Given the description of an element on the screen output the (x, y) to click on. 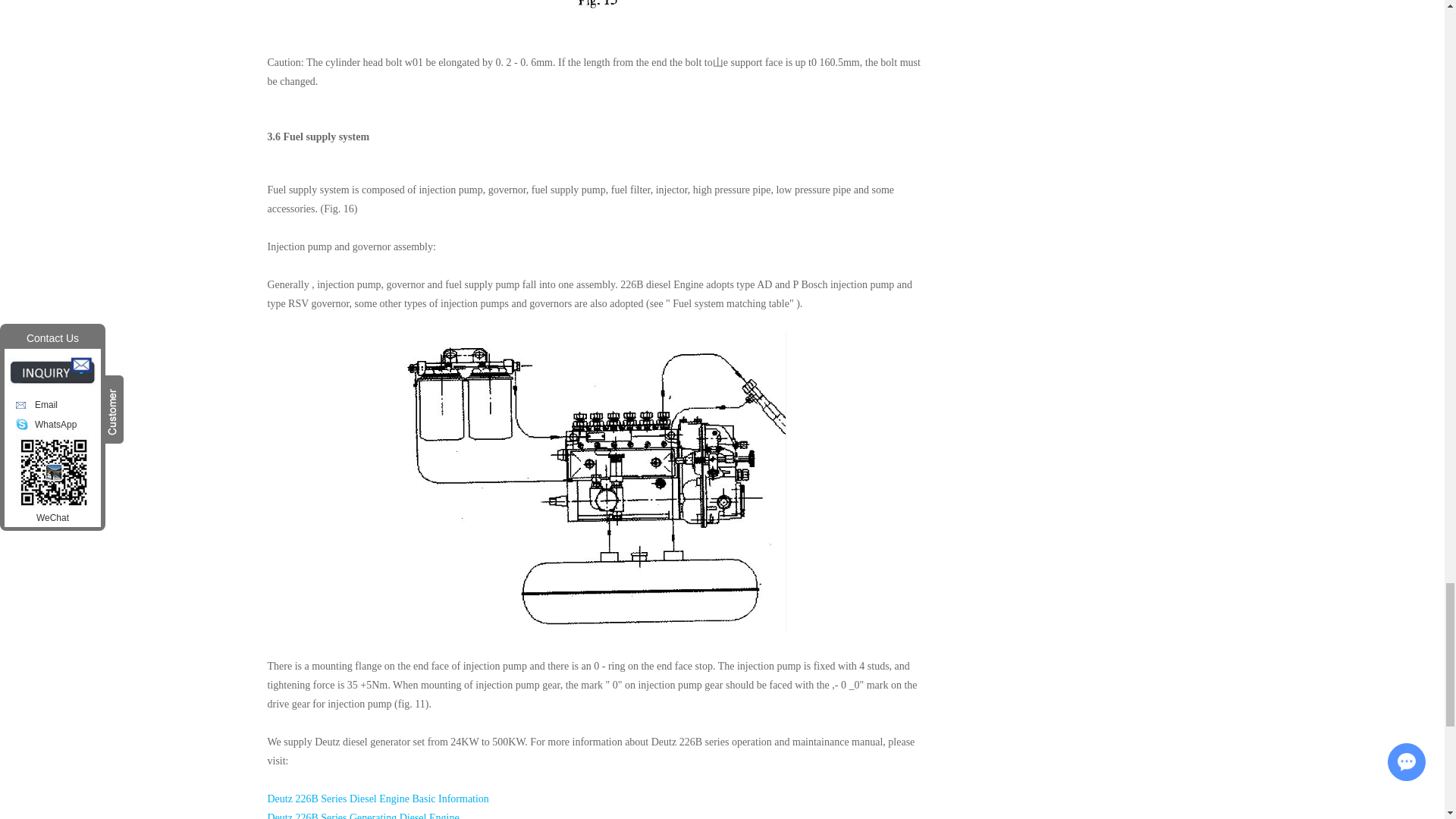
fuel supply system (594, 481)
bolt (594, 13)
